Given the description of an element on the screen output the (x, y) to click on. 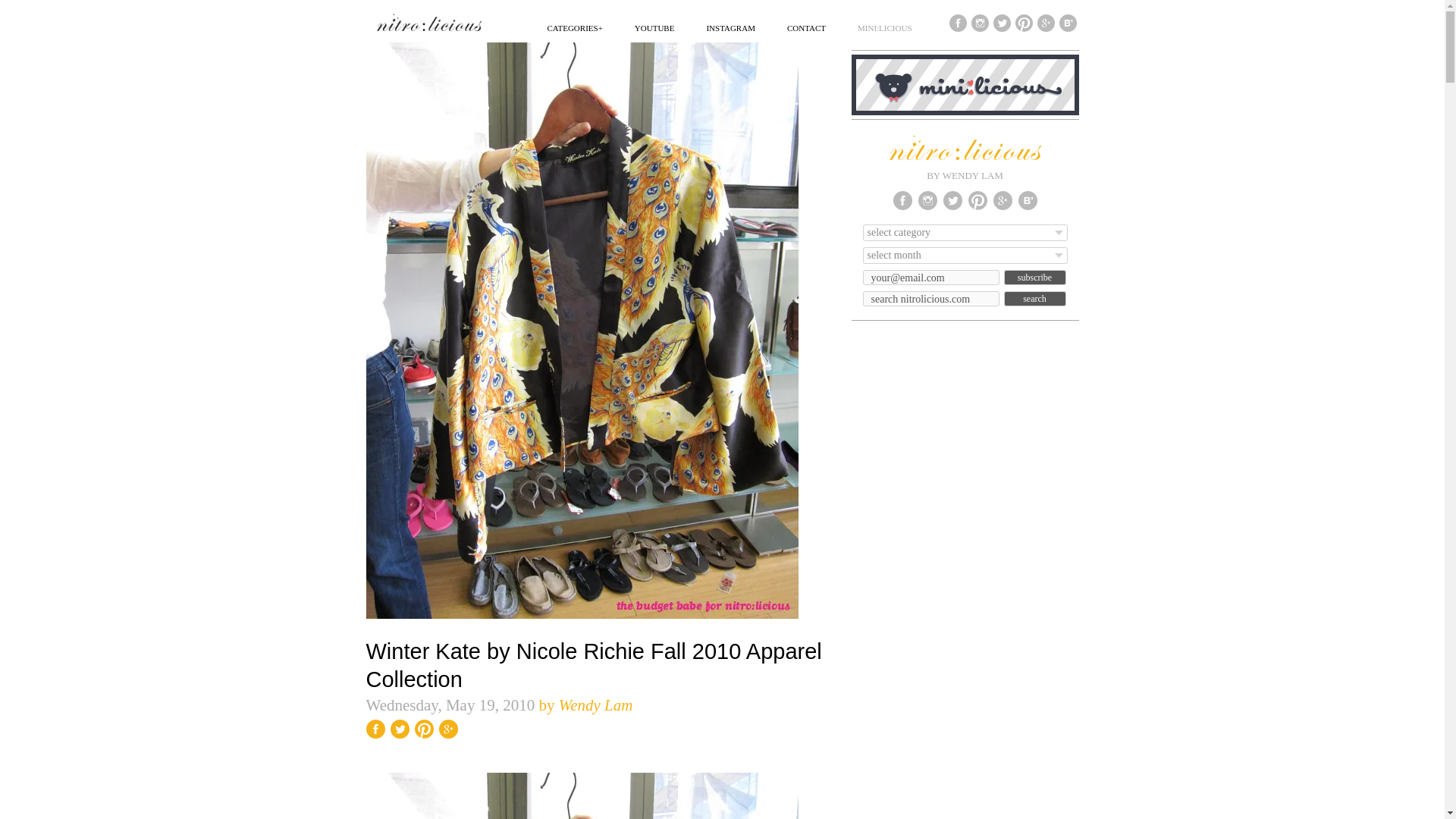
Wendy Lam (596, 705)
INSTAGRAM (730, 28)
CONTACT (806, 28)
YOUTUBE (654, 28)
Subscribe (1034, 277)
MINI:LICIOUS (884, 28)
Search (1034, 298)
